Given the description of an element on the screen output the (x, y) to click on. 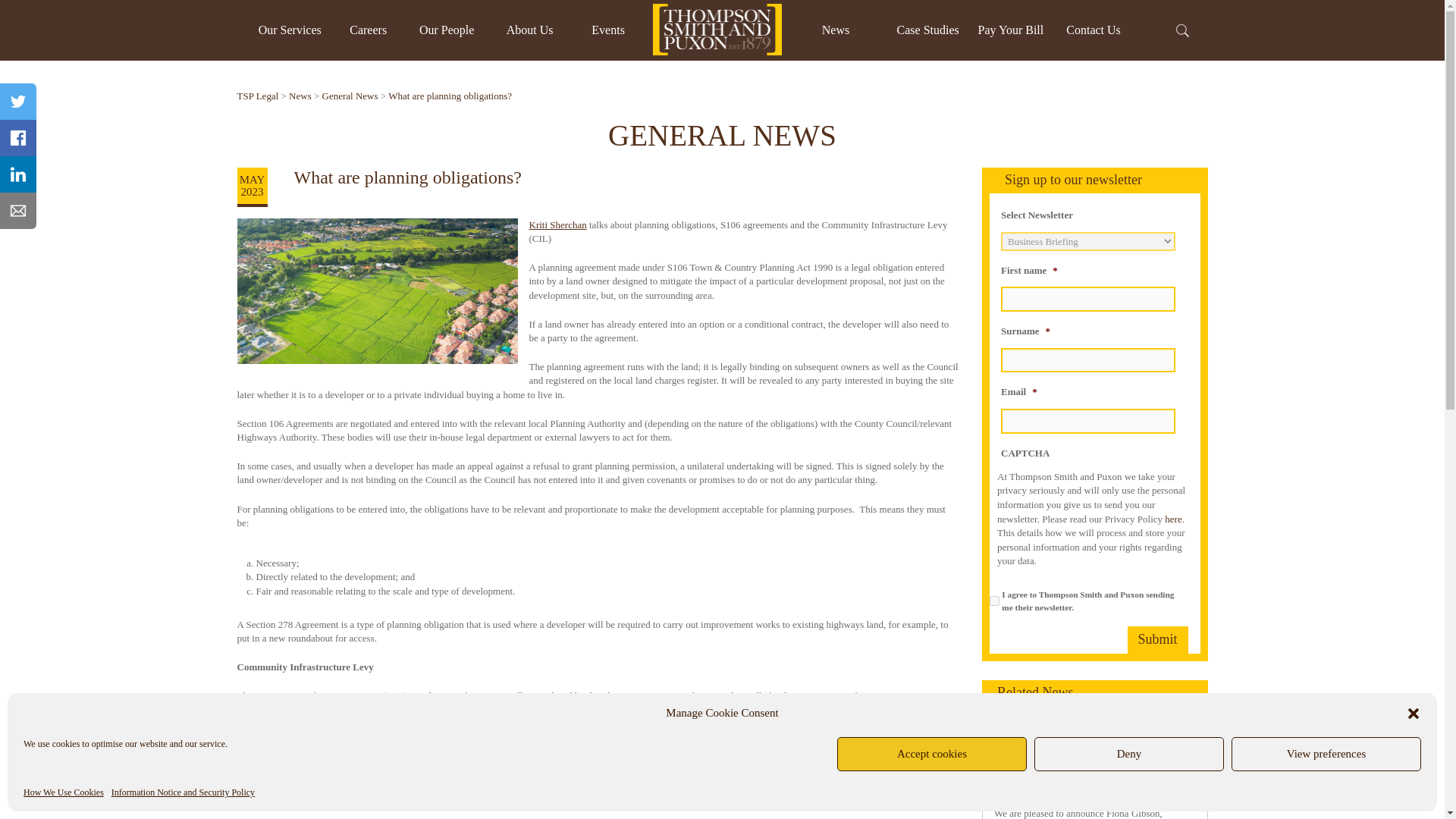
Our People (445, 30)
Our Services (289, 30)
Submit (1157, 639)
About Us (529, 30)
Careers (367, 30)
Information Notice and Security Policy (183, 792)
How We Use Cookies (63, 792)
Our Services (289, 30)
Events (607, 30)
Accept cookies (931, 754)
View preferences (1326, 754)
Deny (1128, 754)
Home Page (716, 30)
News (835, 30)
